Given the description of an element on the screen output the (x, y) to click on. 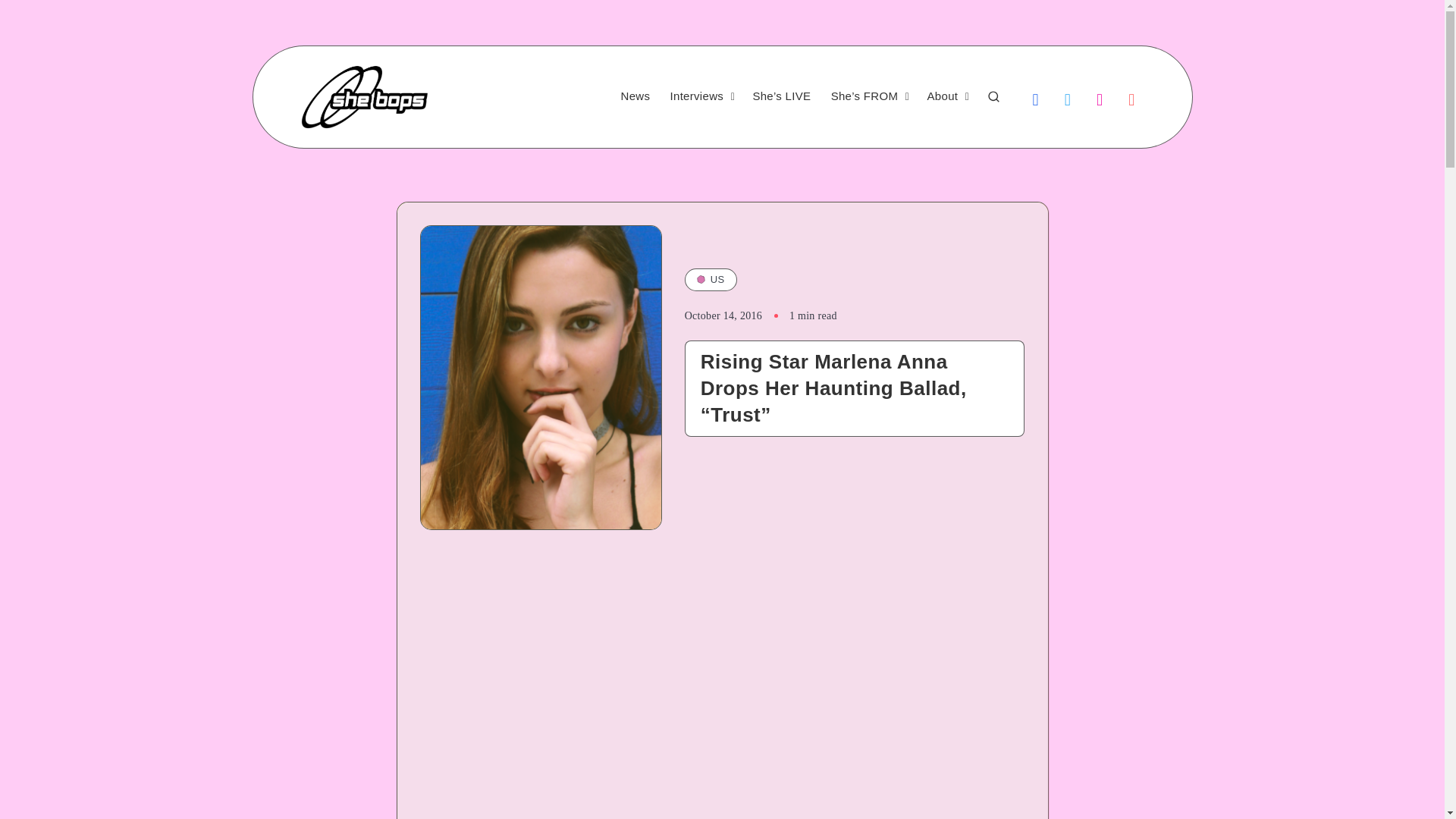
About (942, 96)
Interviews (696, 96)
News (635, 96)
